Given the description of an element on the screen output the (x, y) to click on. 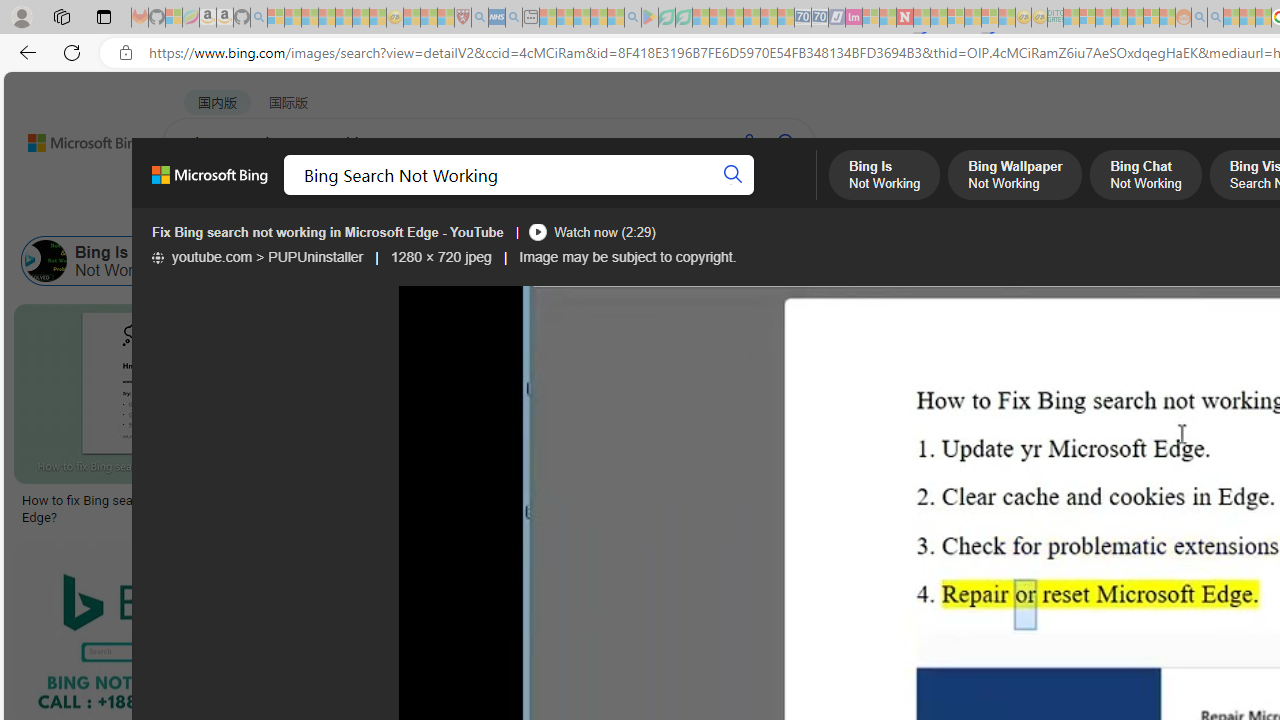
MORE (793, 195)
utah sues federal government - Search - Sleeping (513, 17)
MY BING (276, 195)
google - Search - Sleeping (632, 17)
youtube.com>PUPUninstaller (257, 257)
